Given the description of an element on the screen output the (x, y) to click on. 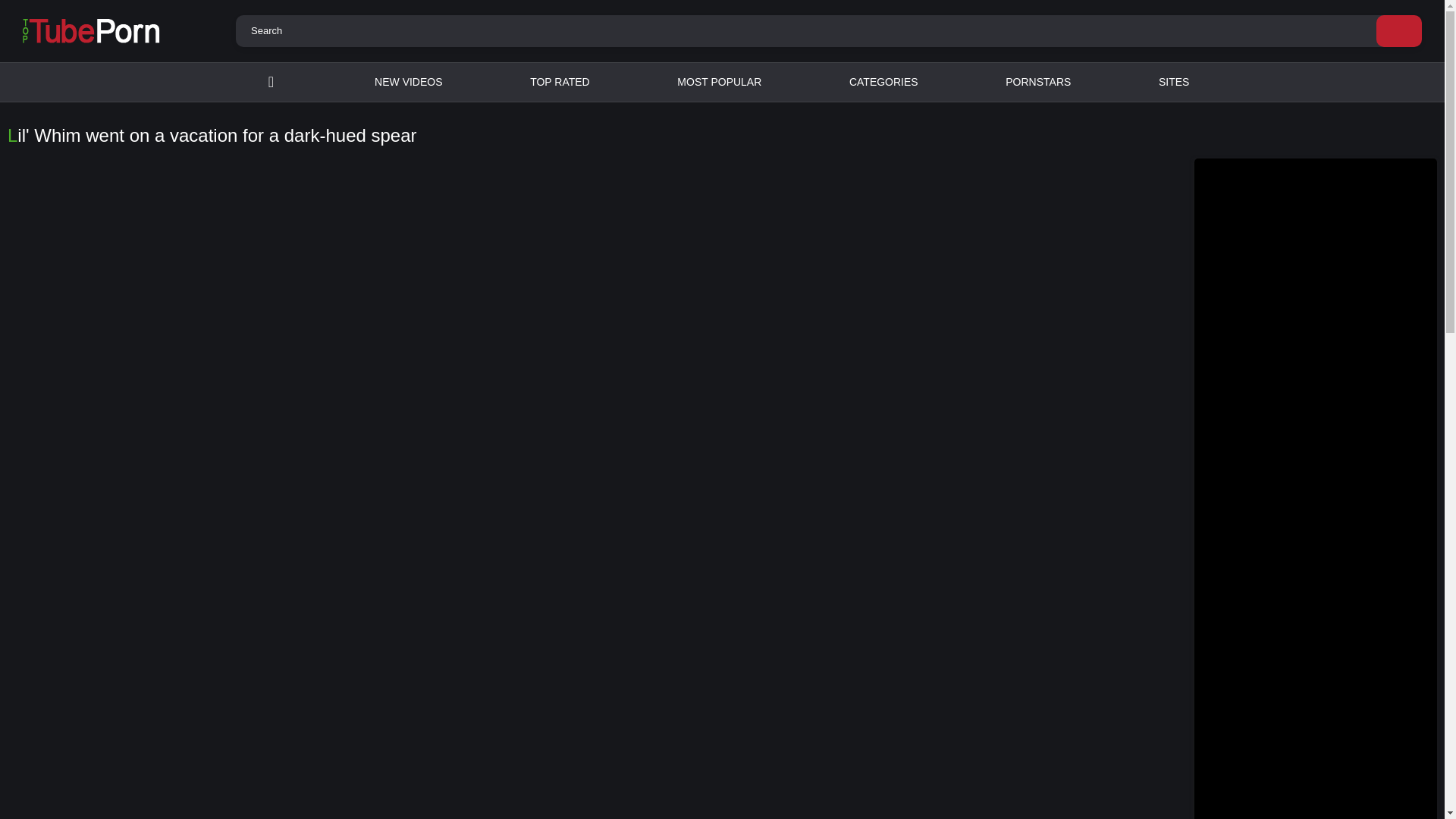
SITES (1174, 82)
NEW VIDEOS (408, 82)
HOME (270, 82)
PORNSTARS (1038, 82)
MOST POPULAR (719, 82)
TOP RATED (559, 82)
CATEGORIES (883, 82)
